Given the description of an element on the screen output the (x, y) to click on. 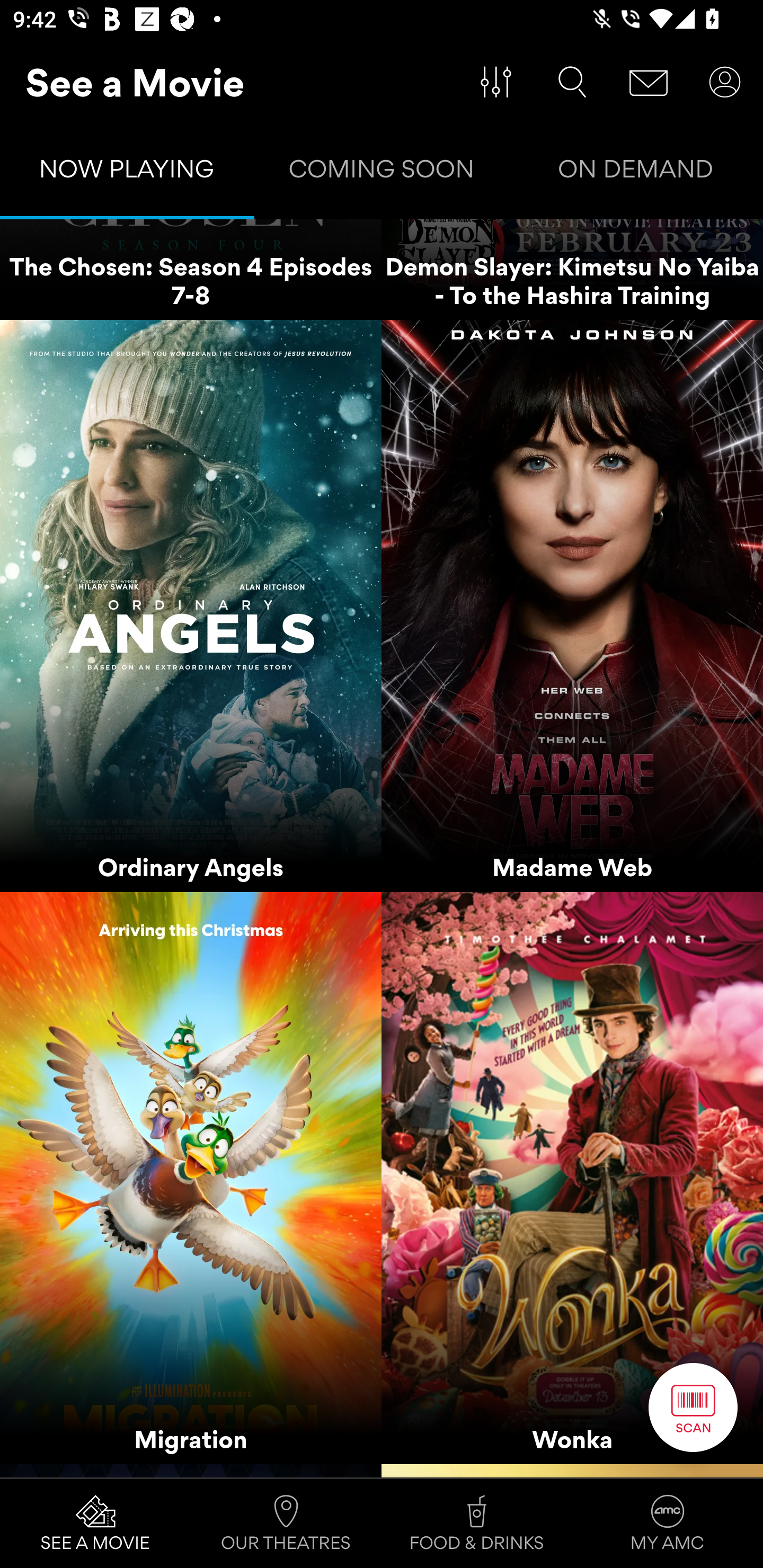
Filter Movies (495, 82)
Search (572, 82)
Message Center (648, 82)
User Account (724, 82)
NOW PLAYING
Tab 1 of 3 (127, 173)
COMING SOON
Tab 2 of 3 (381, 173)
ON DEMAND
Tab 3 of 3 (635, 173)
The Chosen: Season 4 Episodes 7-8 (190, 269)
Ordinary Angels (190, 605)
Madame Web (572, 605)
Migration (190, 1178)
Wonka (572, 1178)
Scan Button (692, 1406)
SEE A MOVIE
Tab 1 of 4 (95, 1523)
OUR THEATRES
Tab 2 of 4 (285, 1523)
FOOD & DRINKS
Tab 3 of 4 (476, 1523)
MY AMC
Tab 4 of 4 (667, 1523)
